Given the description of an element on the screen output the (x, y) to click on. 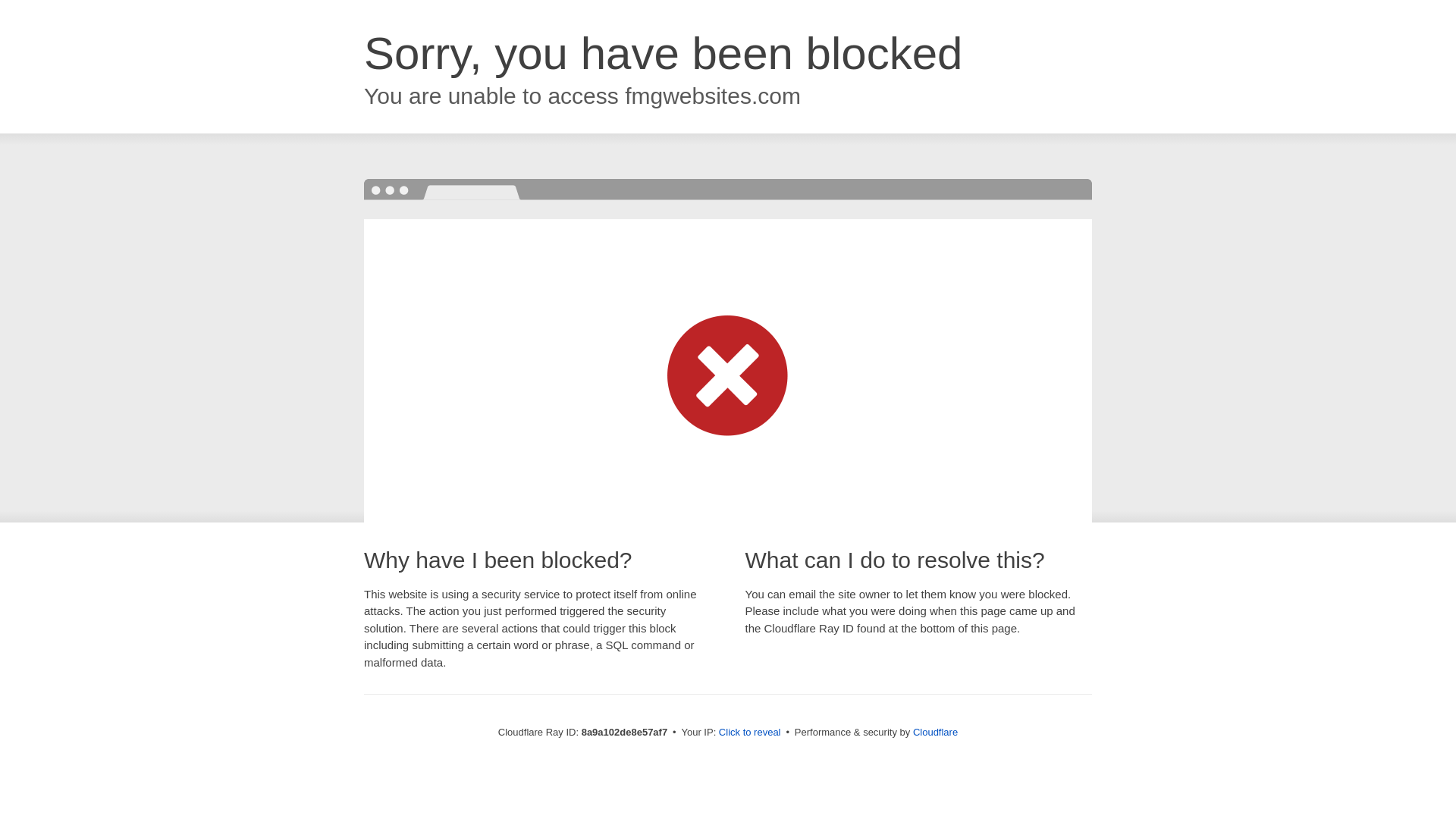
Cloudflare (935, 731)
Click to reveal (749, 732)
